Given the description of an element on the screen output the (x, y) to click on. 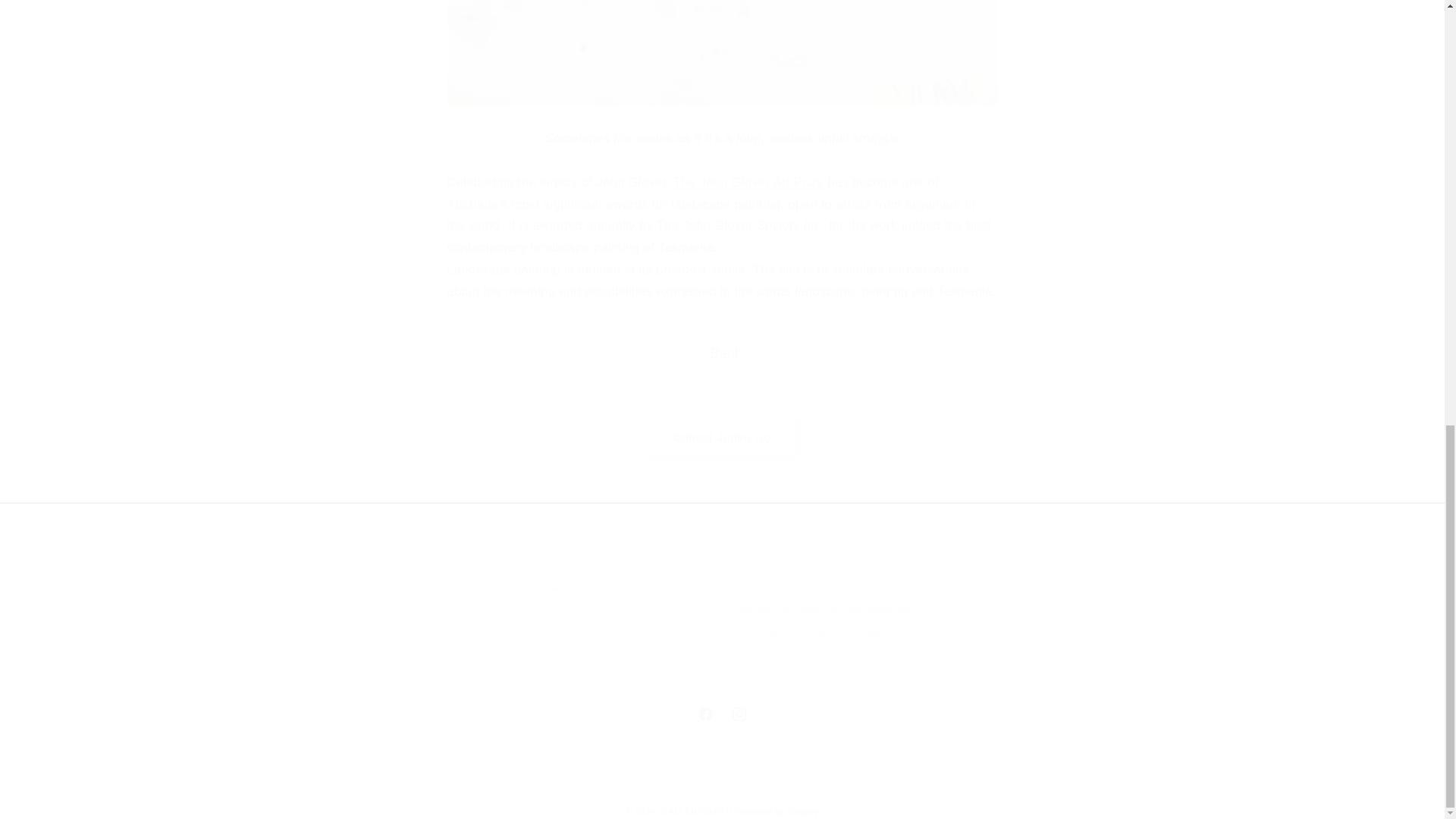
Facebook (705, 714)
Join the Gallerysmith mailing list (463, 587)
JOIN OUR MAILING LIST (463, 587)
Collect Junko Go (722, 437)
Instagram (738, 714)
Collect Junko Go (721, 437)
Powered by Shopify (776, 810)
GALLERYSMITH (721, 714)
The John Glover Art Prize (696, 810)
